Given the description of an element on the screen output the (x, y) to click on. 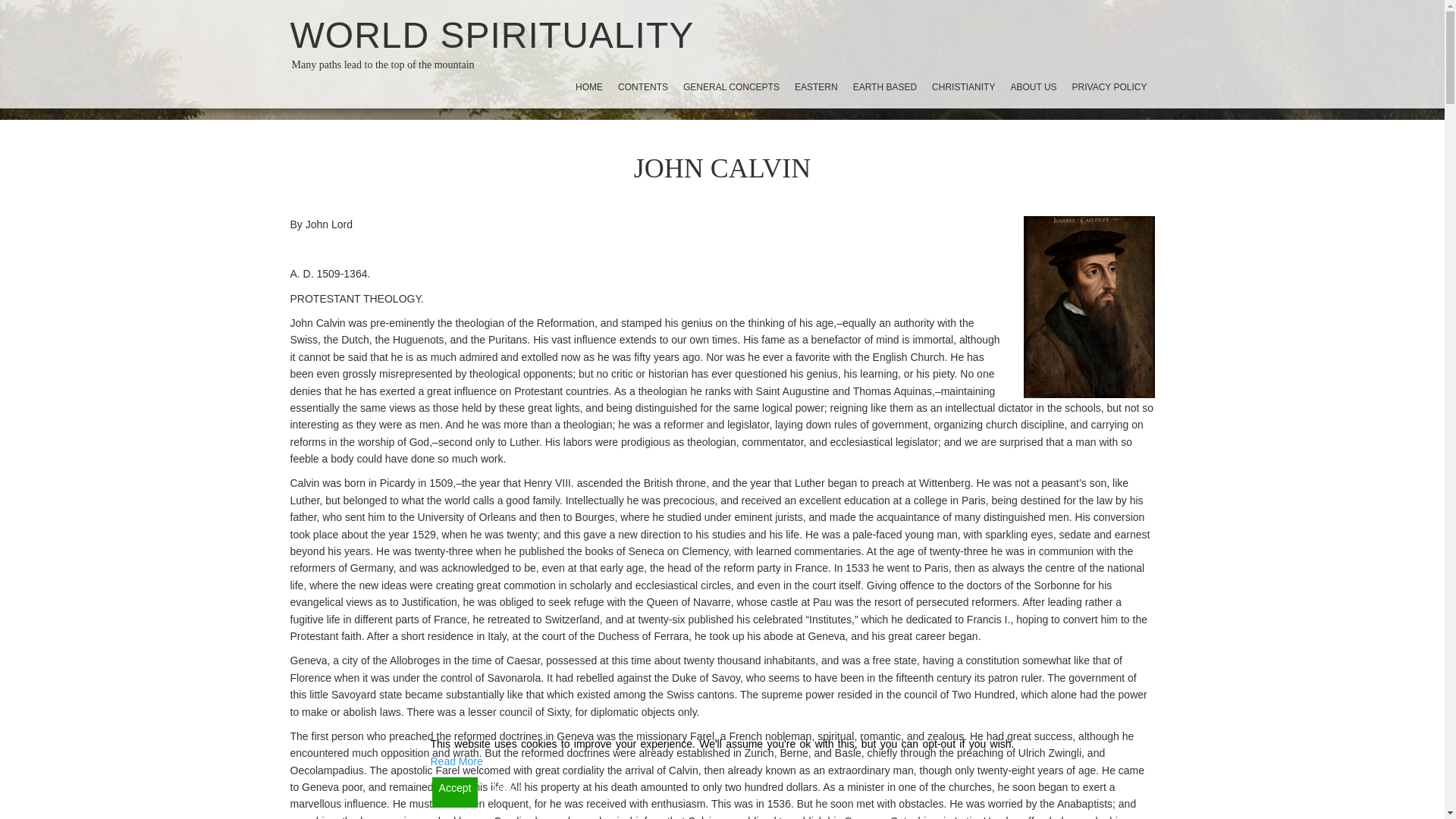
Decline (505, 792)
ABOUT US (1033, 87)
CHRISTIANITY (963, 87)
Accept (454, 792)
CONTENTS (642, 87)
PRIVACY POLICY (1109, 87)
WORLD SPIRITUALITY (491, 35)
HOME (588, 87)
EASTERN (816, 87)
Read More (456, 761)
GENERAL CONCEPTS (731, 87)
EARTH BASED (884, 87)
